Given the description of an element on the screen output the (x, y) to click on. 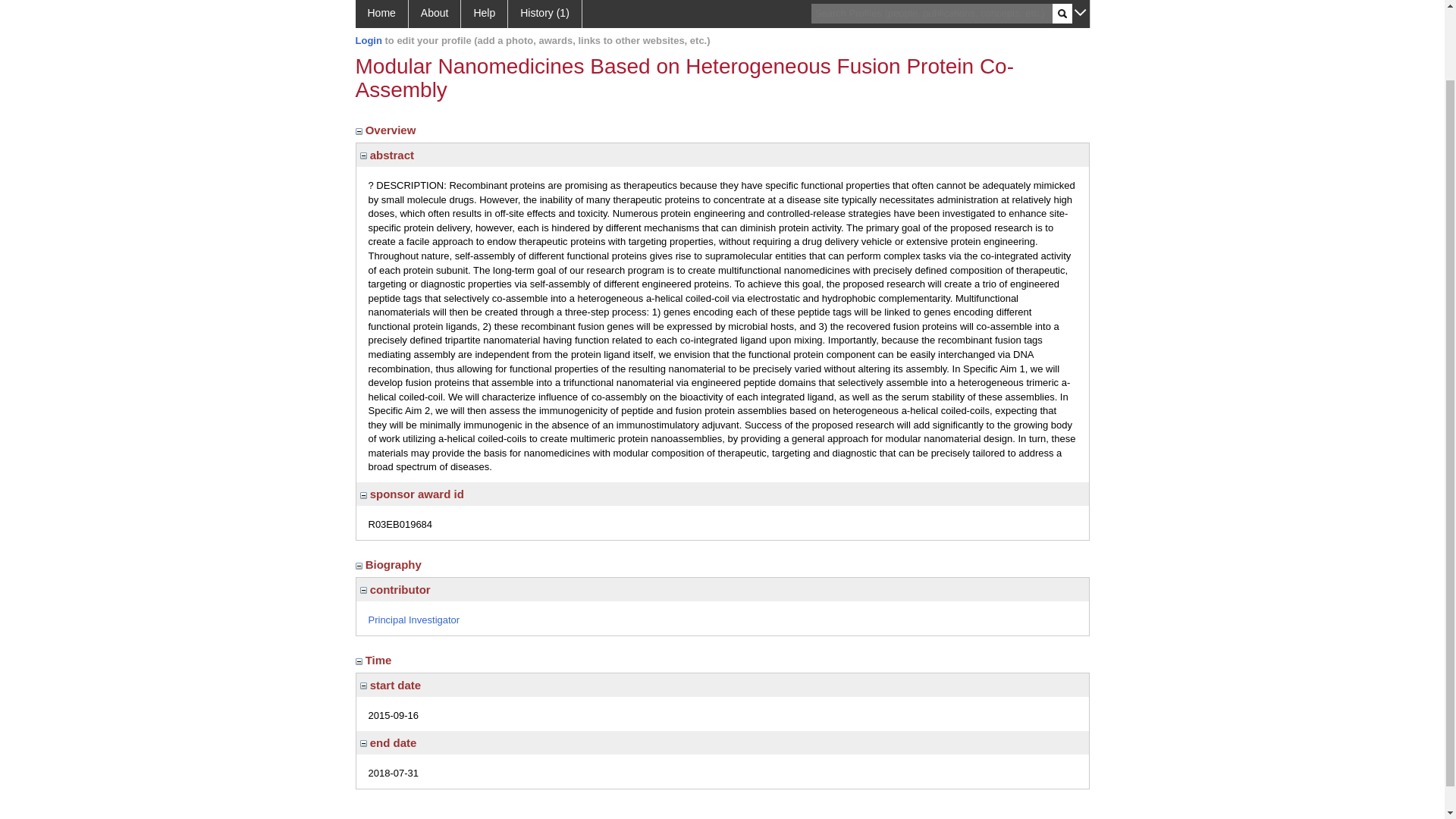
About (435, 13)
Login (368, 40)
Principal Investigator (414, 619)
Help (484, 13)
Home (381, 13)
